Given the description of an element on the screen output the (x, y) to click on. 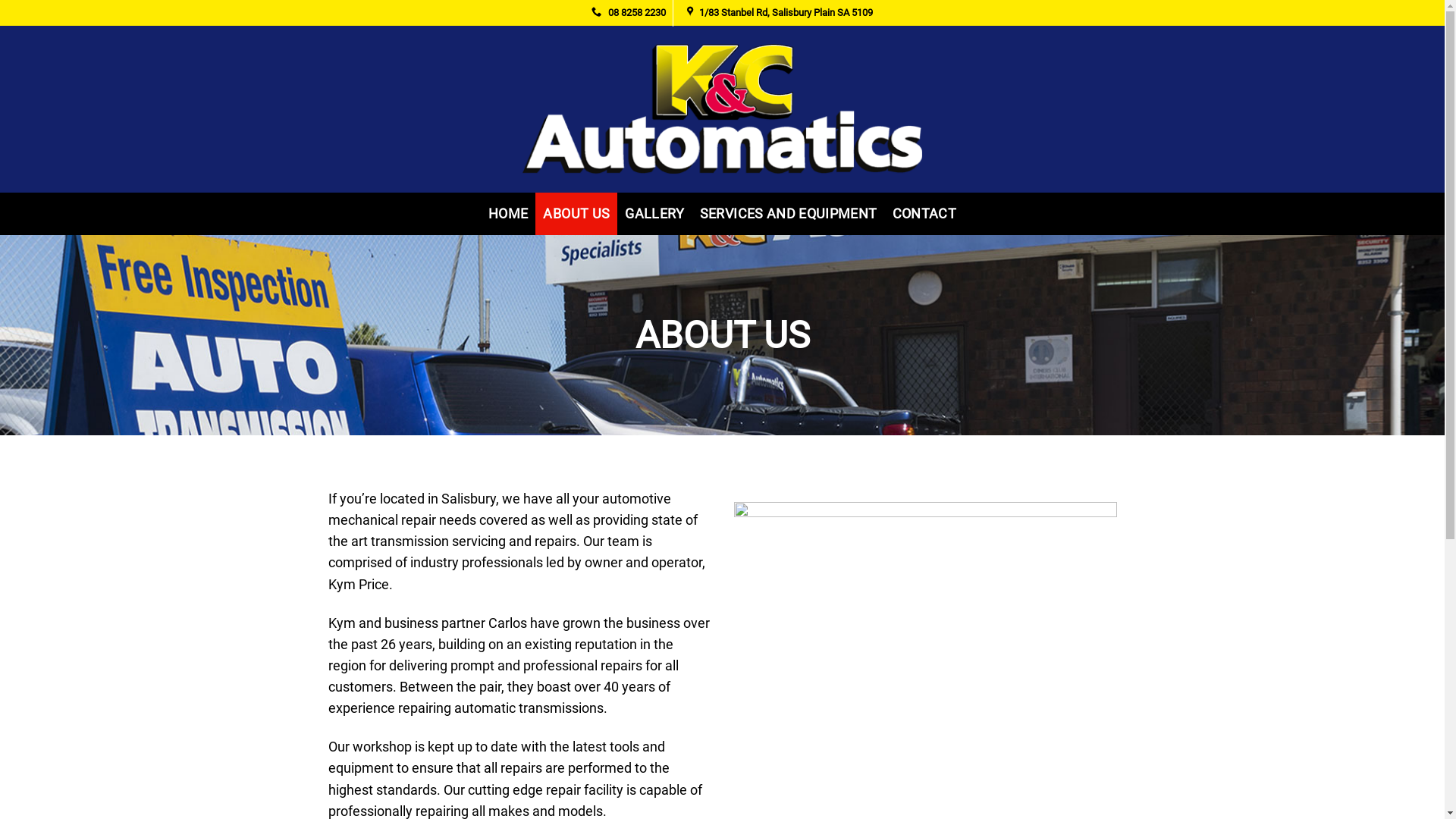
08 8258 2230 Element type: text (628, 12)
SERVICES AND EQUIPMENT Element type: text (788, 213)
Skip to content Element type: text (0, 0)
ABOUT US Element type: text (576, 213)
CONTACT Element type: text (923, 213)
1/83 Stanbel Rd, Salisbury Plain SA 5109 Element type: text (785, 12)
GALLERY Element type: text (654, 213)
K & C Automatics Element type: hover (721, 108)
HOME Element type: text (507, 213)
